Given the description of an element on the screen output the (x, y) to click on. 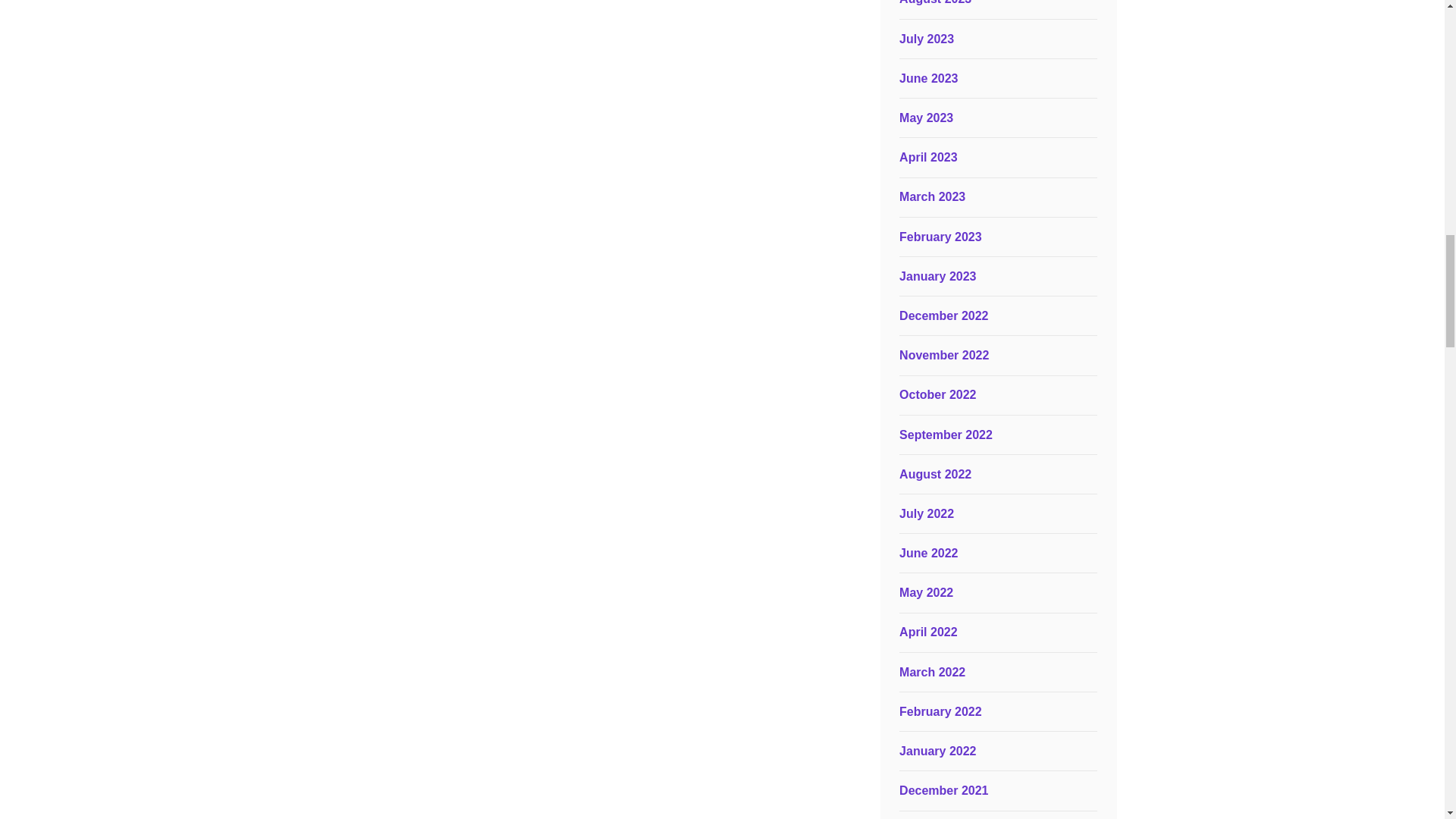
July 2023 (926, 38)
August 2023 (935, 2)
January 2023 (937, 276)
April 2023 (927, 156)
May 2023 (926, 117)
November 2022 (943, 354)
December 2022 (943, 315)
March 2023 (932, 196)
June 2023 (928, 78)
February 2023 (940, 236)
